Given the description of an element on the screen output the (x, y) to click on. 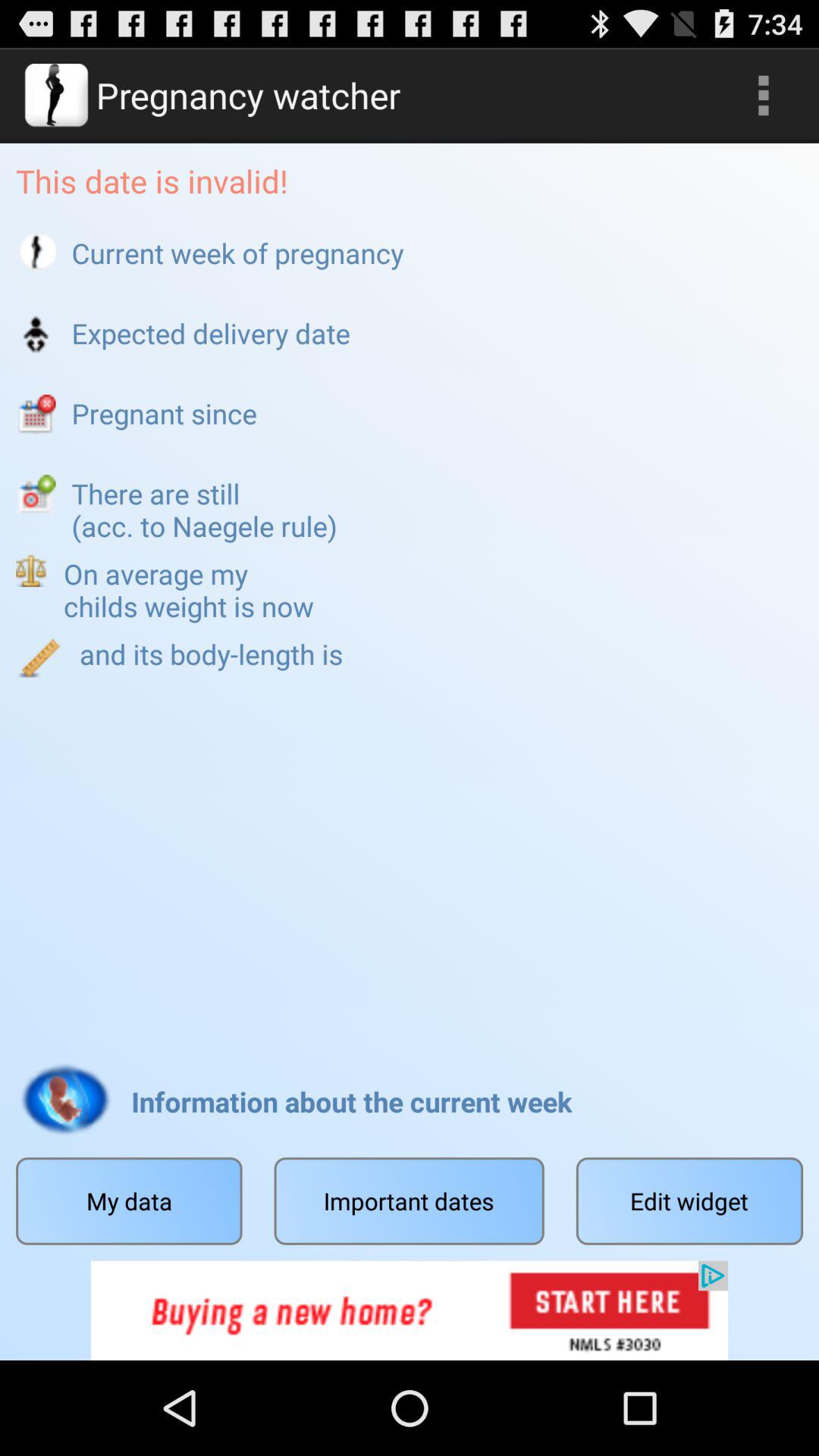
advertisement page (409, 1310)
